Given the description of an element on the screen output the (x, y) to click on. 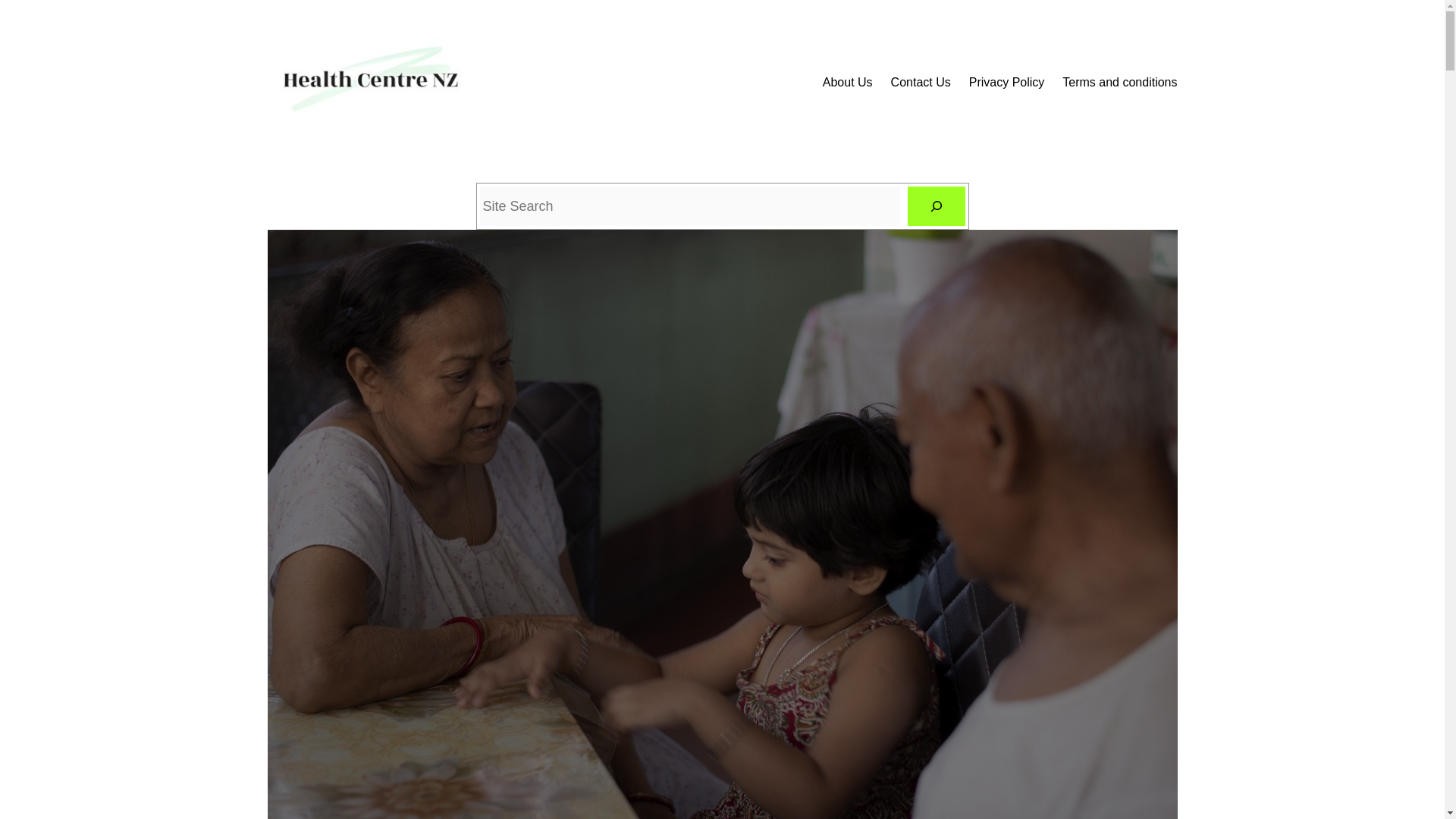
Terms and conditions (1119, 82)
About Us (847, 82)
Privacy Policy (1007, 82)
Contact Us (920, 82)
